Given the description of an element on the screen output the (x, y) to click on. 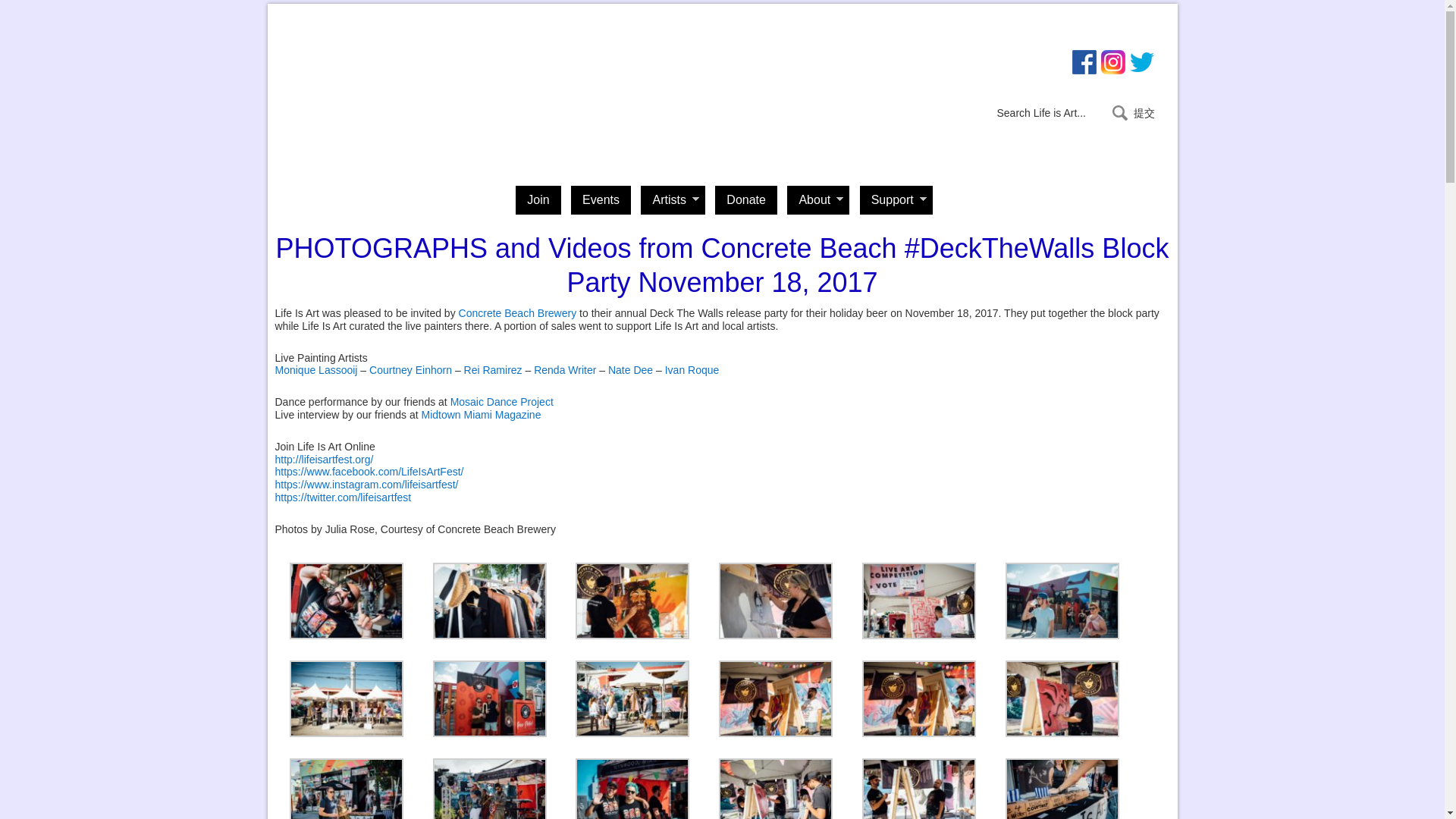
Donate (745, 200)
Nate Dee (630, 369)
Join (537, 200)
Monique Lassooij (315, 369)
Concrete Beach Brewery (517, 313)
Mosaic Dance Project (501, 401)
Artists (672, 200)
Courtney Einhorn (410, 369)
Life Is Art (348, 81)
Rei Ramirez (493, 369)
Support (896, 200)
Ivan Roque (692, 369)
Renda Writer (564, 369)
Midtown Miami Magazine (480, 414)
Events (600, 200)
